Given the description of an element on the screen output the (x, y) to click on. 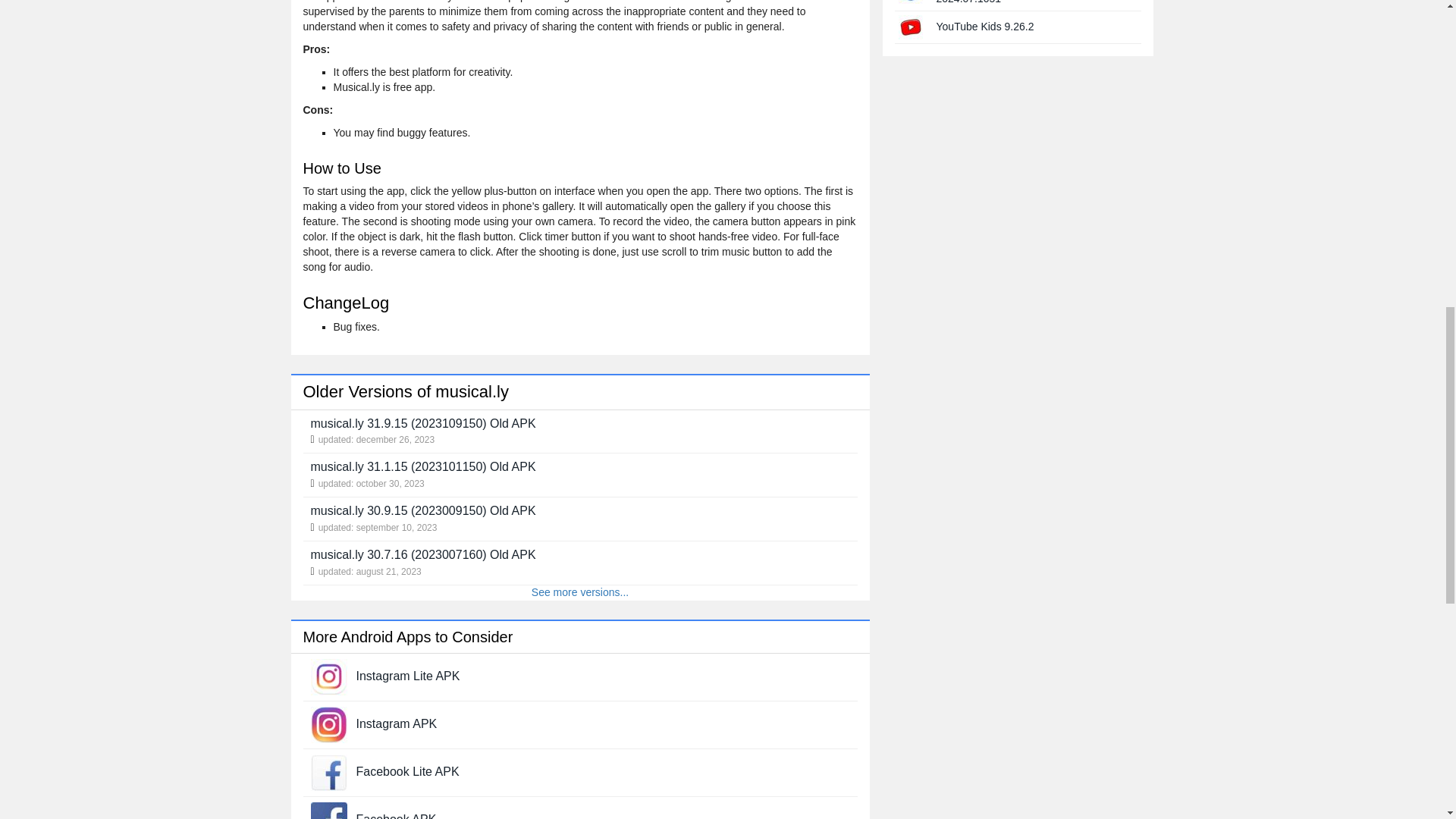
Instagram APK (397, 723)
Instagram Latest Version 340.0.0.22.109 APK Download (397, 723)
Facebook APK (396, 816)
See more versions... (579, 592)
Facebook Latest Version 472.0.0.45.79 APK Download (396, 816)
Facebook Lite Latest Version 415.0.0.12.100 APK Download (329, 771)
Instagram Lite APK (408, 675)
Facebook Lite Latest Version 415.0.0.12.100 APK Download (408, 771)
Instagram Lite Latest Version 416.0.0.10.102 APK Download (329, 676)
Facebook Lite APK (408, 771)
Instagram Latest Version 340.0.0.22.109 APK Download (329, 724)
Facebook Latest Version 472.0.0.45.79 APK Download (329, 816)
Instagram Lite Latest Version 416.0.0.10.102 APK Download (408, 675)
